Given the description of an element on the screen output the (x, y) to click on. 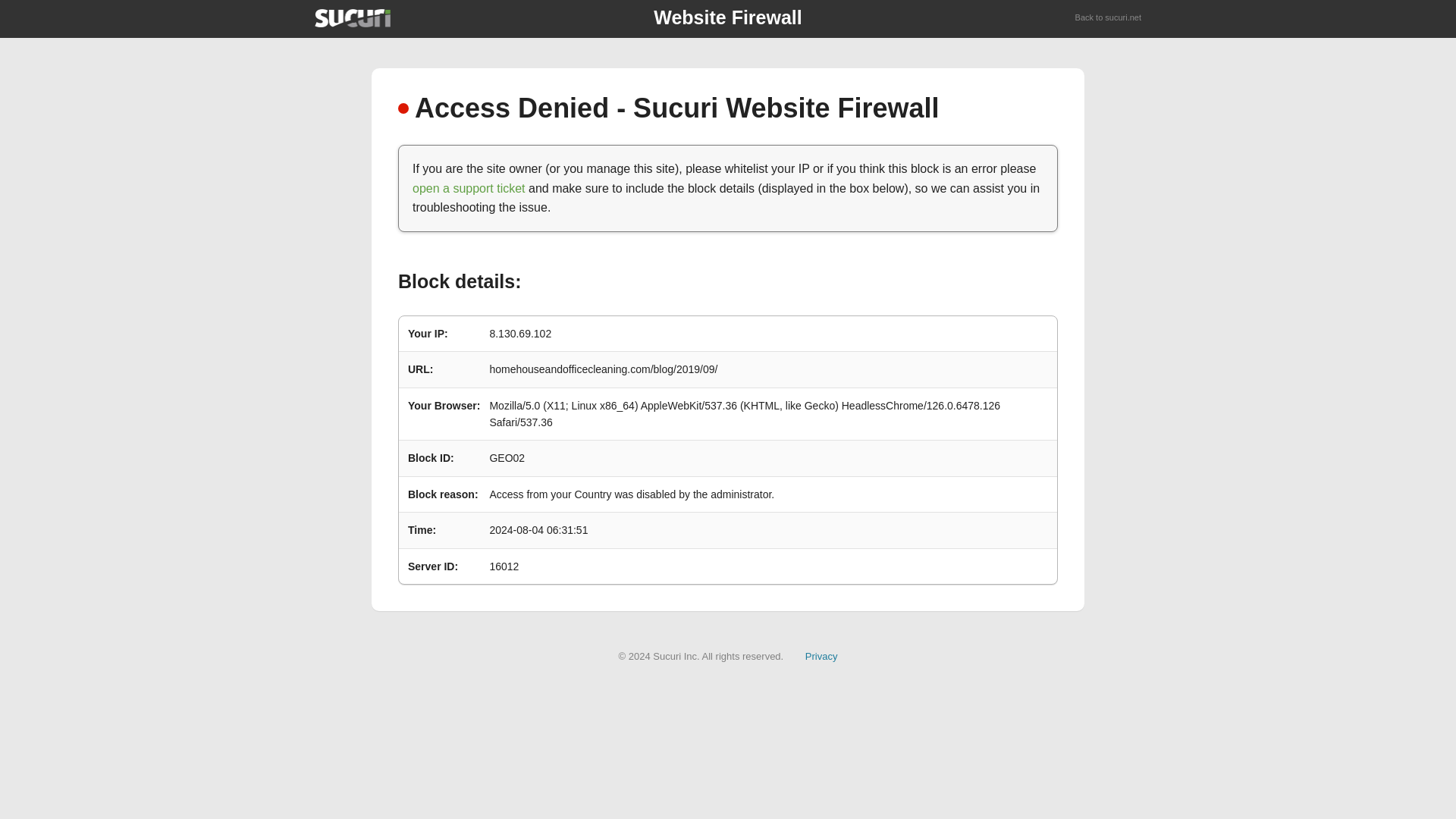
Back to sucuri.net (1108, 18)
open a support ticket (468, 187)
Privacy (821, 655)
